Given the description of an element on the screen output the (x, y) to click on. 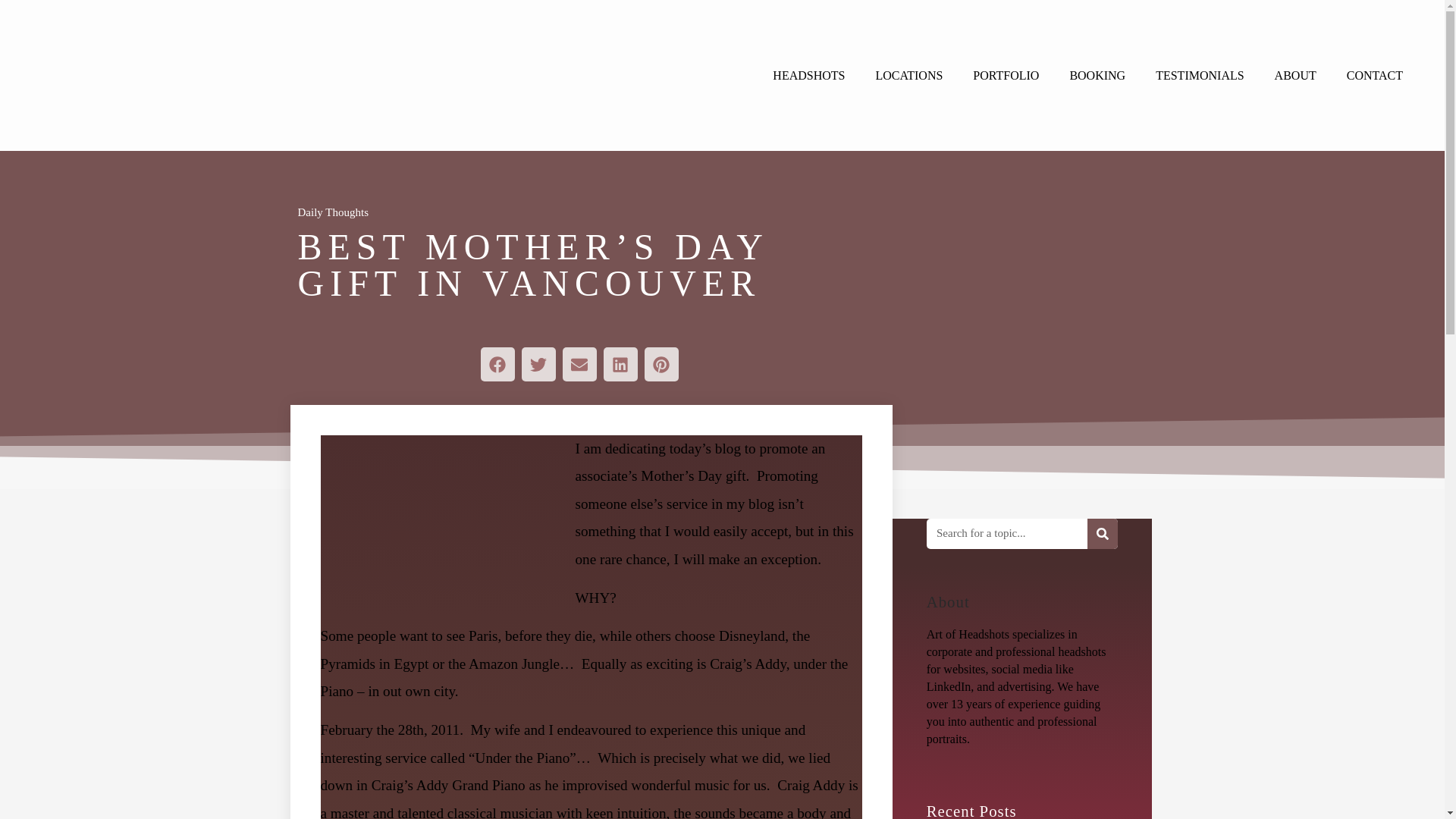
PORTFOLIO (1006, 75)
BOOKING (1097, 75)
LOCATIONS (909, 75)
ABOUT (1295, 75)
TESTIMONIALS (1199, 75)
CONTACT (1375, 75)
HEADSHOTS (808, 75)
